Given the description of an element on the screen output the (x, y) to click on. 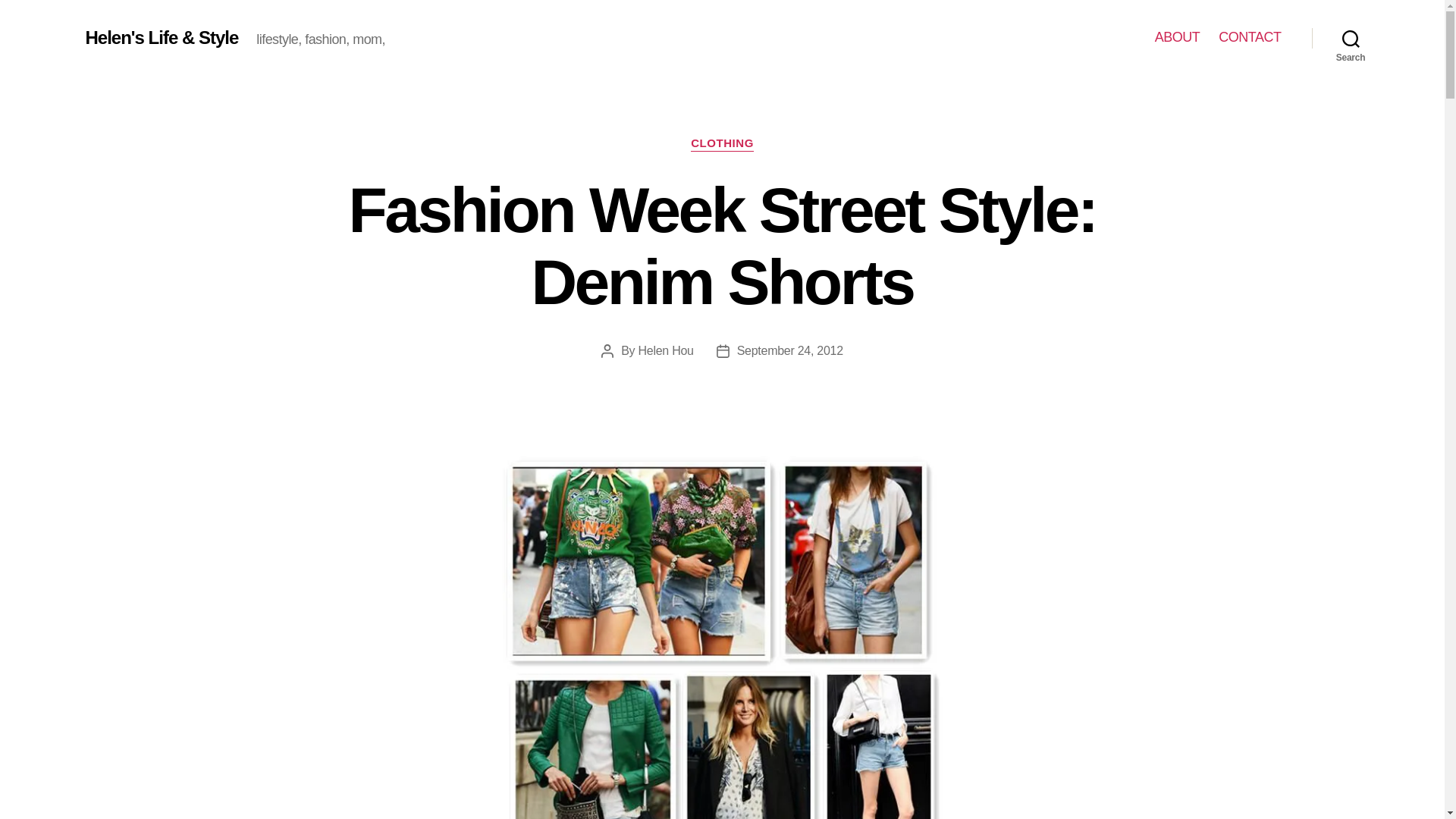
CONTACT (1249, 37)
ABOUT (1176, 37)
Search (1350, 37)
CLOTHING (722, 143)
Helen Hou (666, 350)
September 24, 2012 (789, 350)
